Given the description of an element on the screen output the (x, y) to click on. 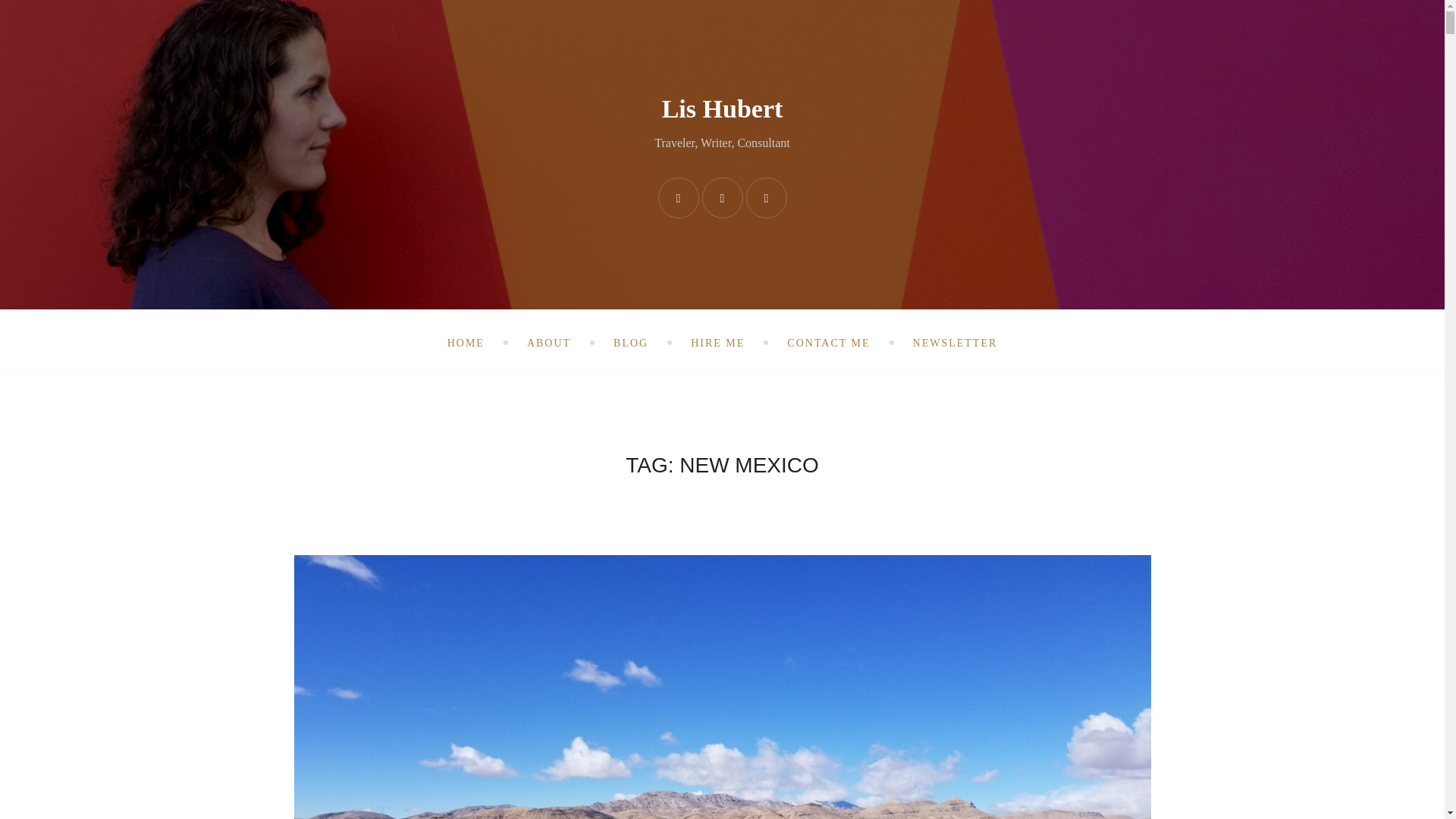
Lis Hubert (722, 108)
BLOG (629, 343)
CONTACT ME (828, 343)
NEWSLETTER (954, 343)
HOME (465, 343)
ABOUT (548, 343)
HIRE ME (717, 343)
This is Living (629, 343)
